Given the description of an element on the screen output the (x, y) to click on. 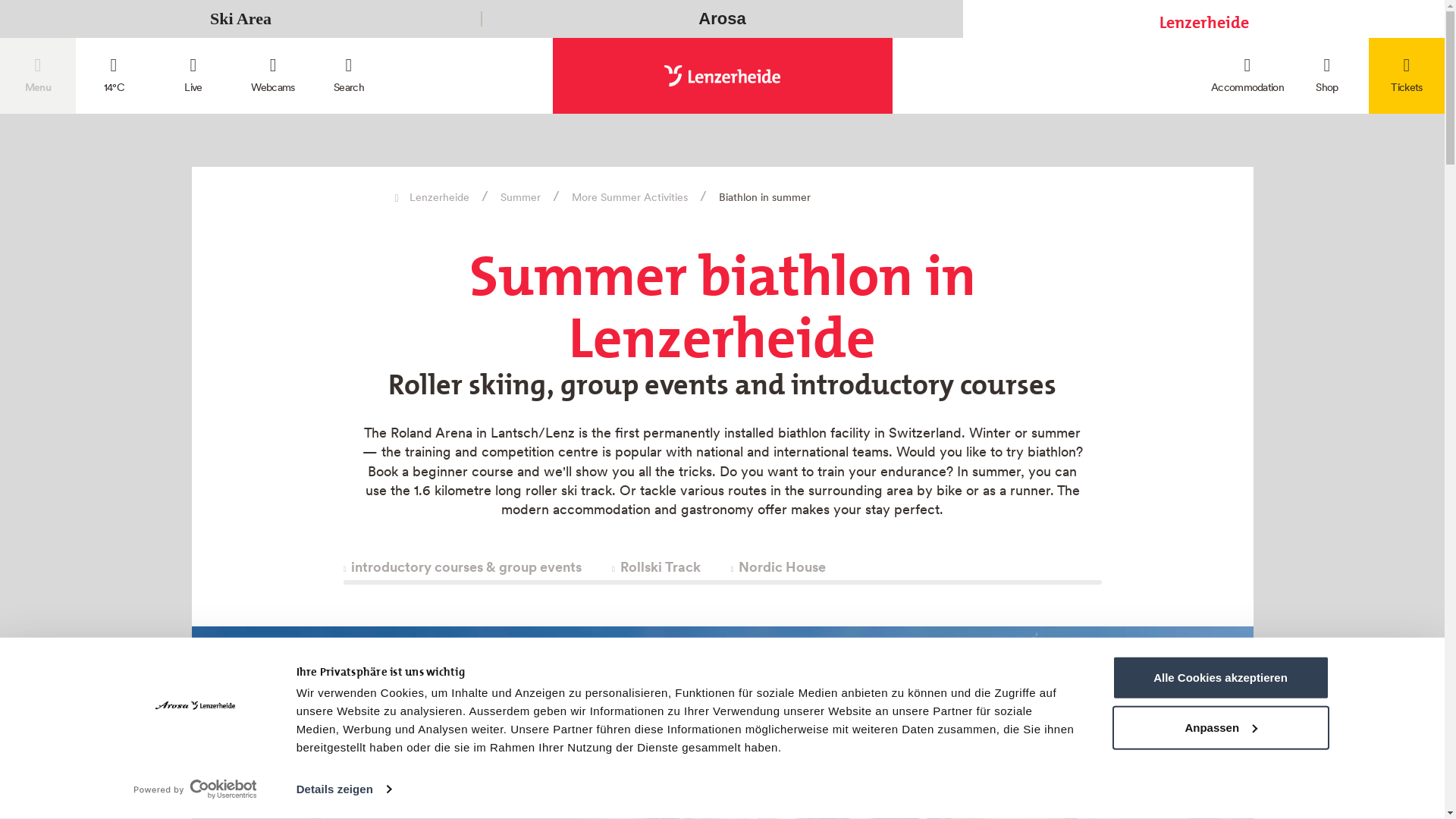
Details zeigen (344, 789)
